Given the description of an element on the screen output the (x, y) to click on. 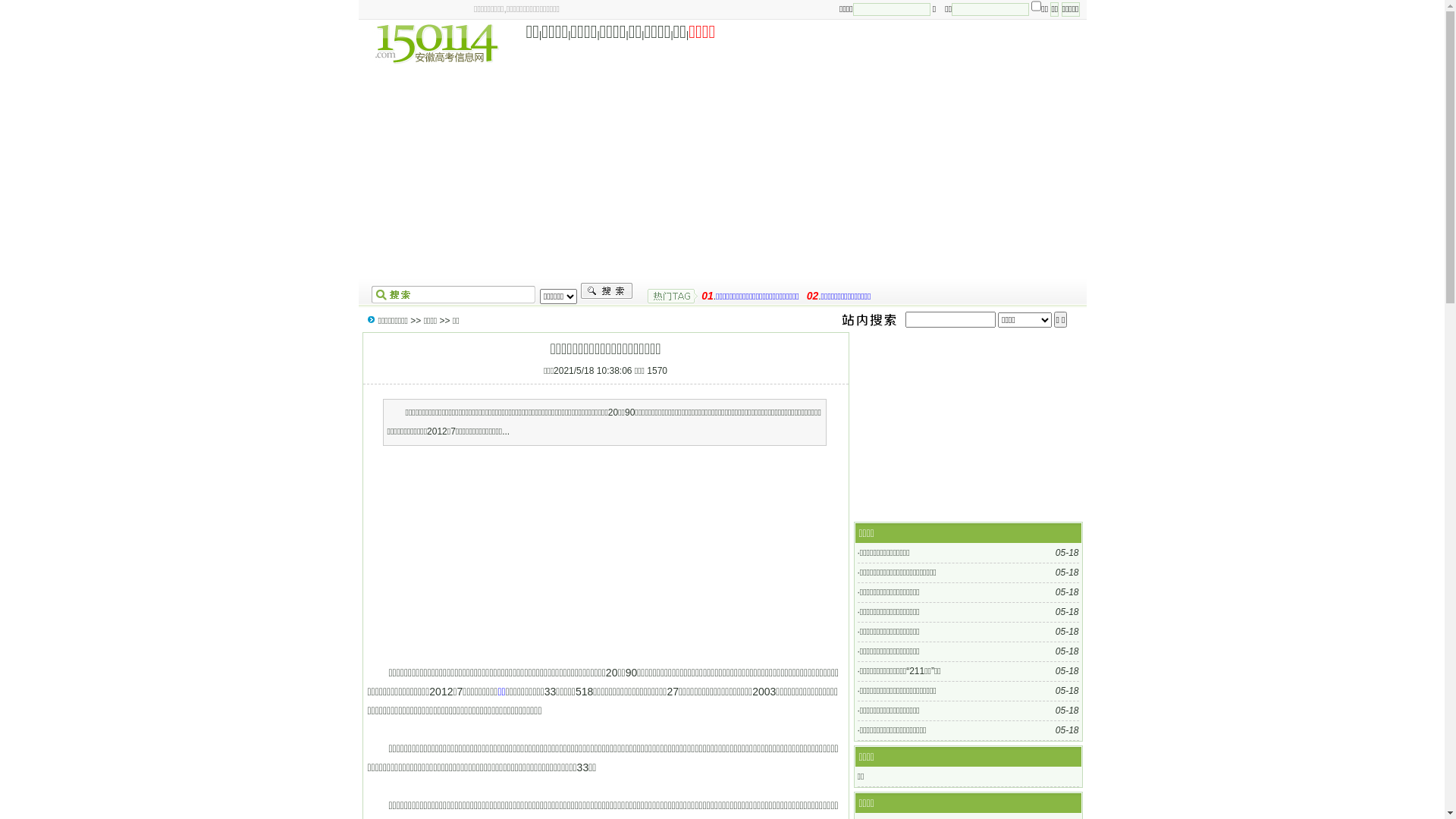
Advertisement Element type: hover (603, 555)
Advertisement Element type: hover (968, 426)
Advertisement Element type: hover (722, 172)
